Given the description of an element on the screen output the (x, y) to click on. 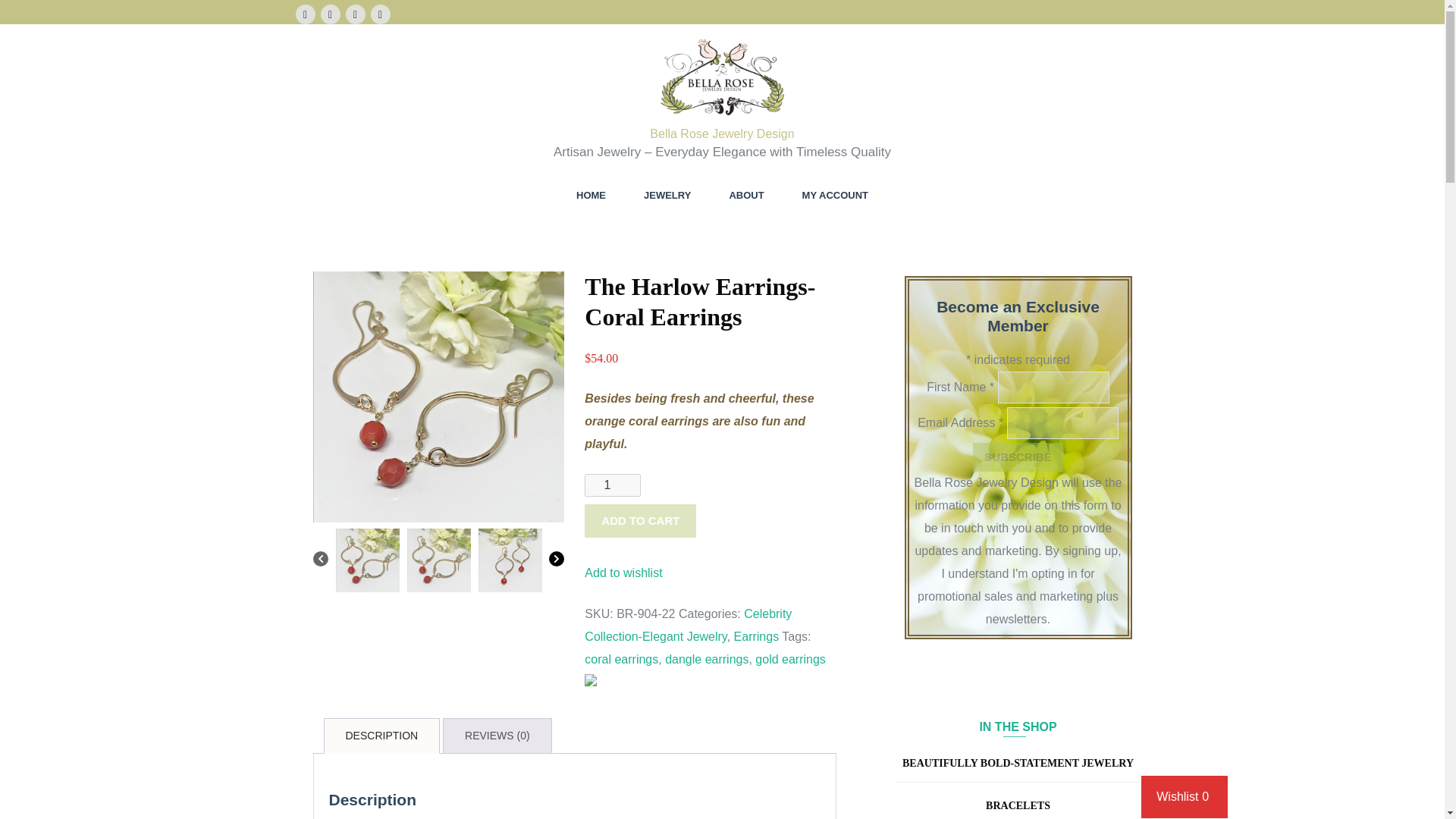
ABOUT (746, 195)
Gold Coral Earrings (438, 396)
pinterest (355, 14)
facebook (305, 14)
1 (612, 485)
Gold Coral Earrings (438, 560)
Subscribe (1017, 457)
Gold Coral Earrings (366, 560)
twitter (379, 14)
HOME (590, 195)
instagram (329, 14)
Gold-Coral-Earrings-904-2 (509, 560)
Bella Rose Jewelry Design (721, 133)
JEWELRY (667, 195)
MY ACCOUNT (834, 195)
